Given the description of an element on the screen output the (x, y) to click on. 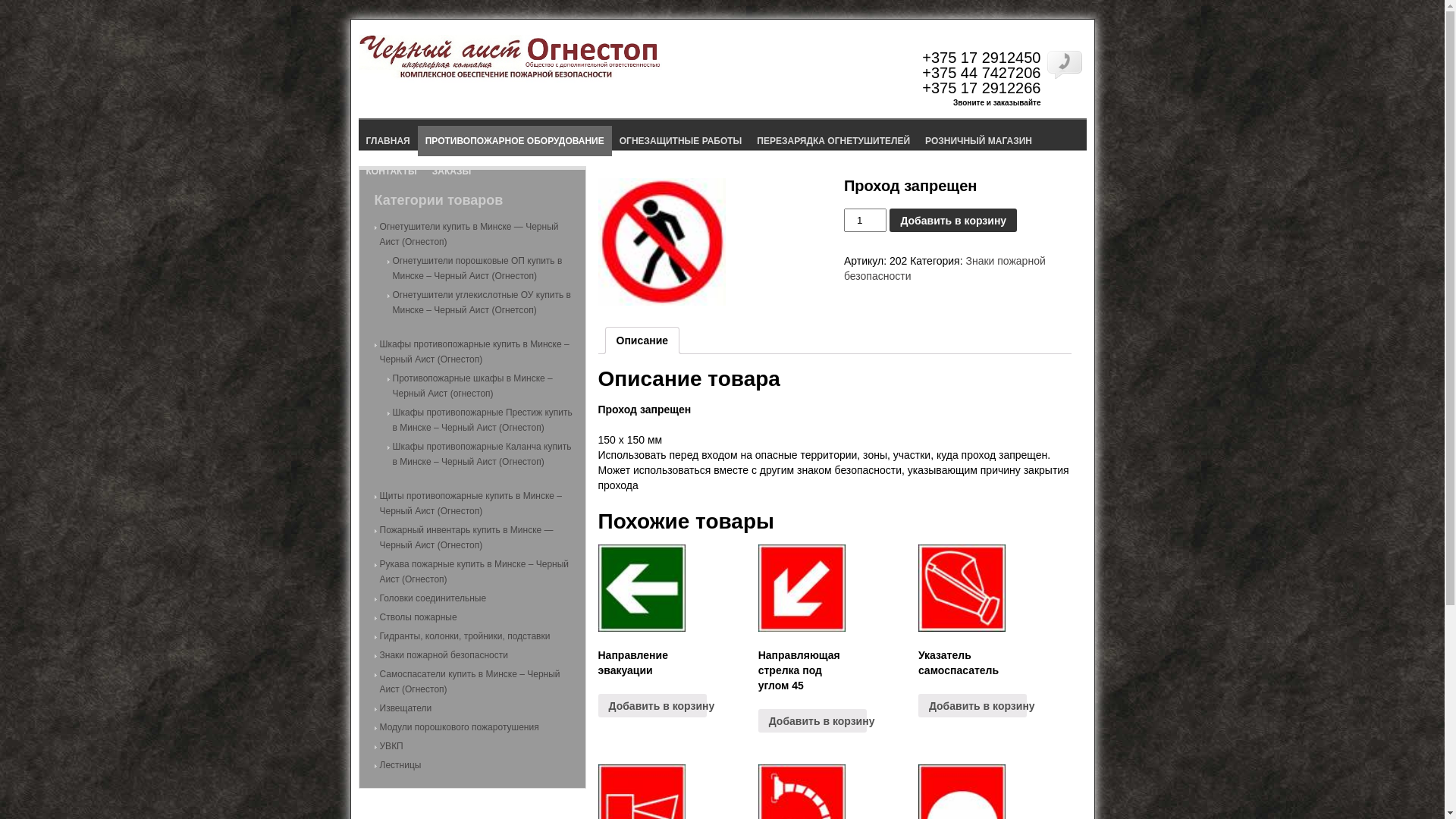
image031 Element type: hover (660, 241)
aist Element type: hover (509, 78)
